Given the description of an element on the screen output the (x, y) to click on. 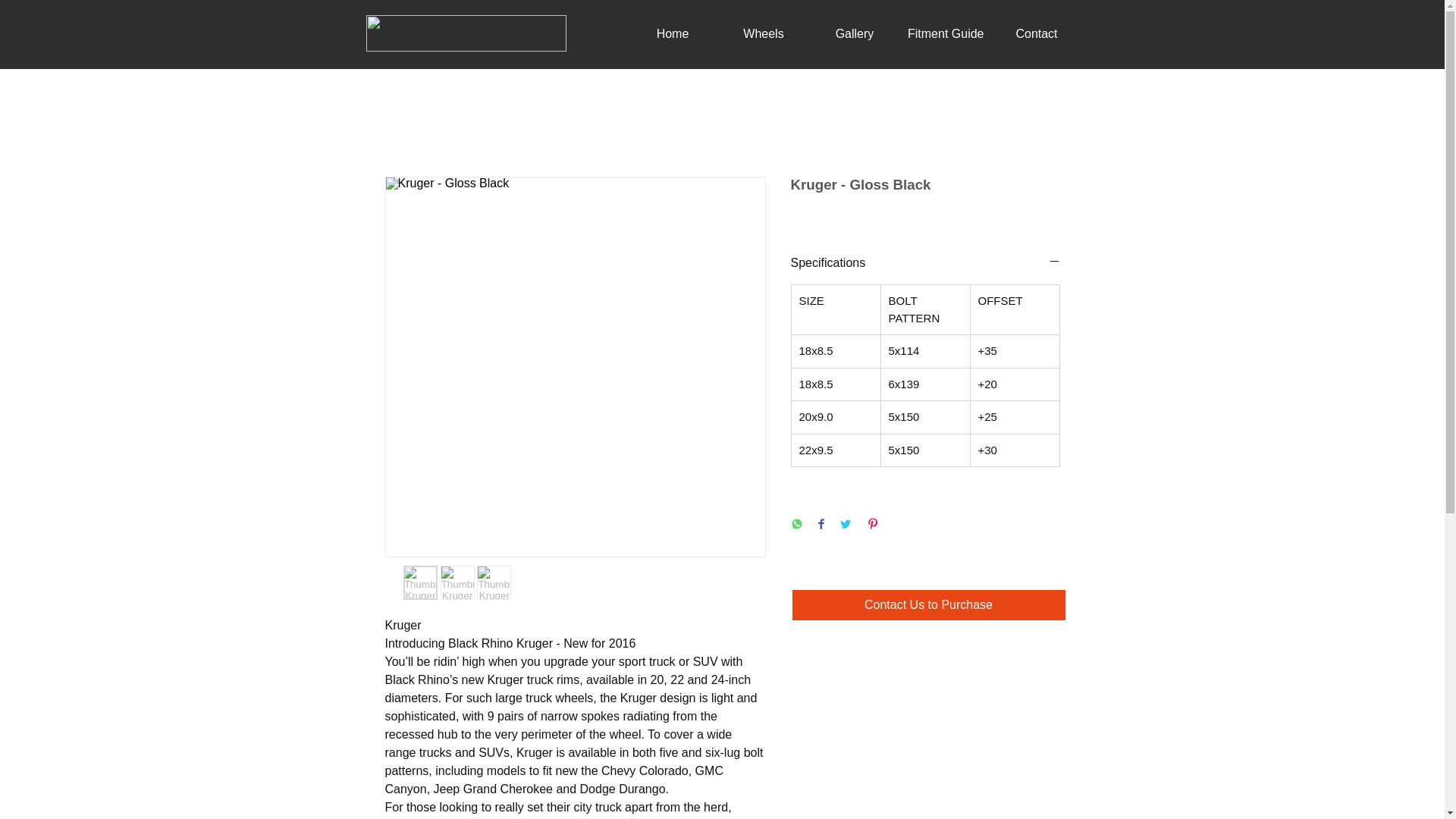
Contact (1036, 34)
Gallery (854, 34)
Contact Us to Purchase (928, 604)
Home (672, 34)
Wheels (763, 34)
Specifications (924, 262)
Fitment Guide (945, 34)
